Given the description of an element on the screen output the (x, y) to click on. 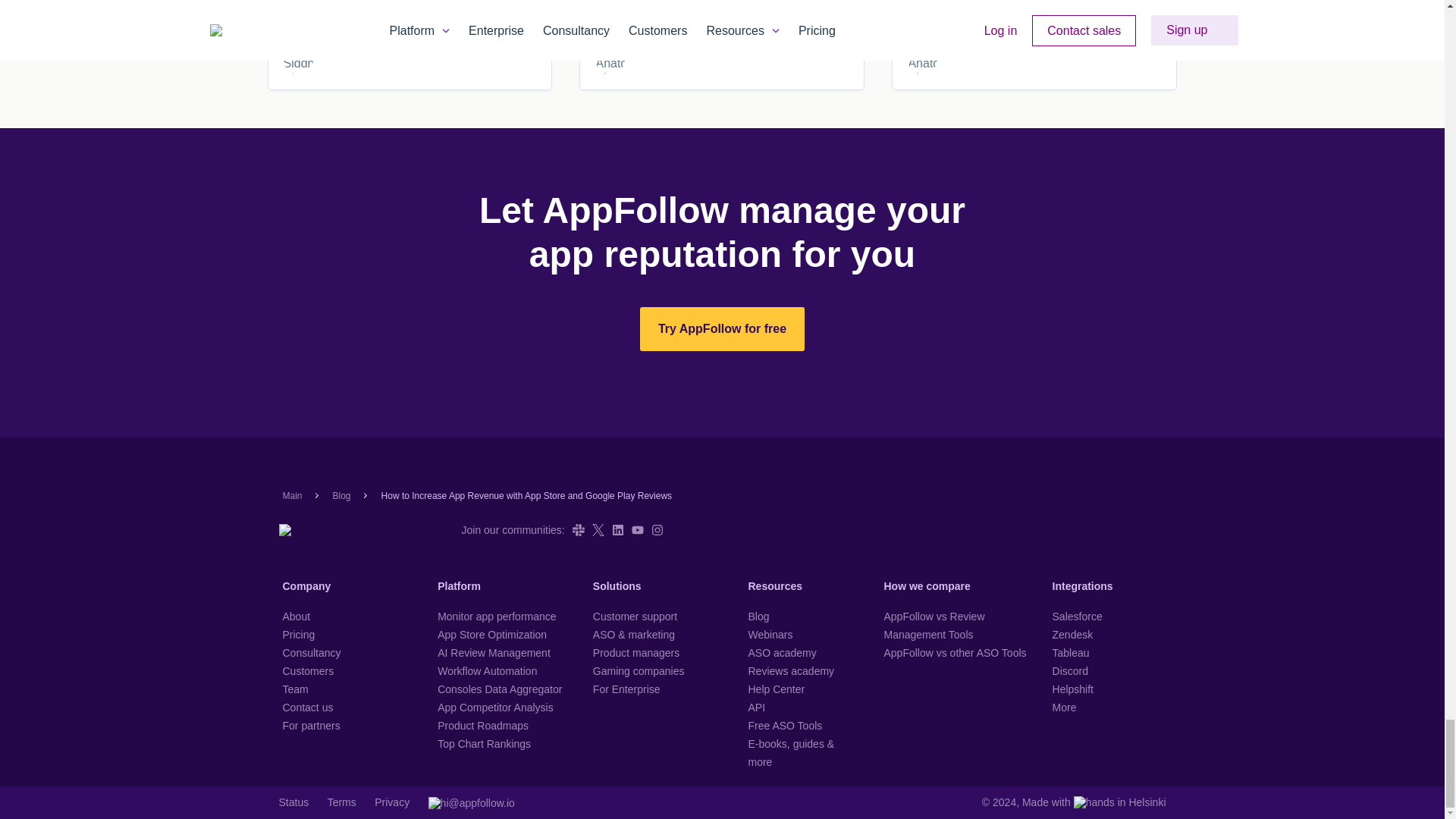
Main (291, 495)
Slack (578, 530)
Instagram (656, 530)
LinkedIn (617, 530)
Made with hands (1094, 802)
YouTube (637, 530)
Blog (341, 495)
Twitter (598, 530)
